Given the description of an element on the screen output the (x, y) to click on. 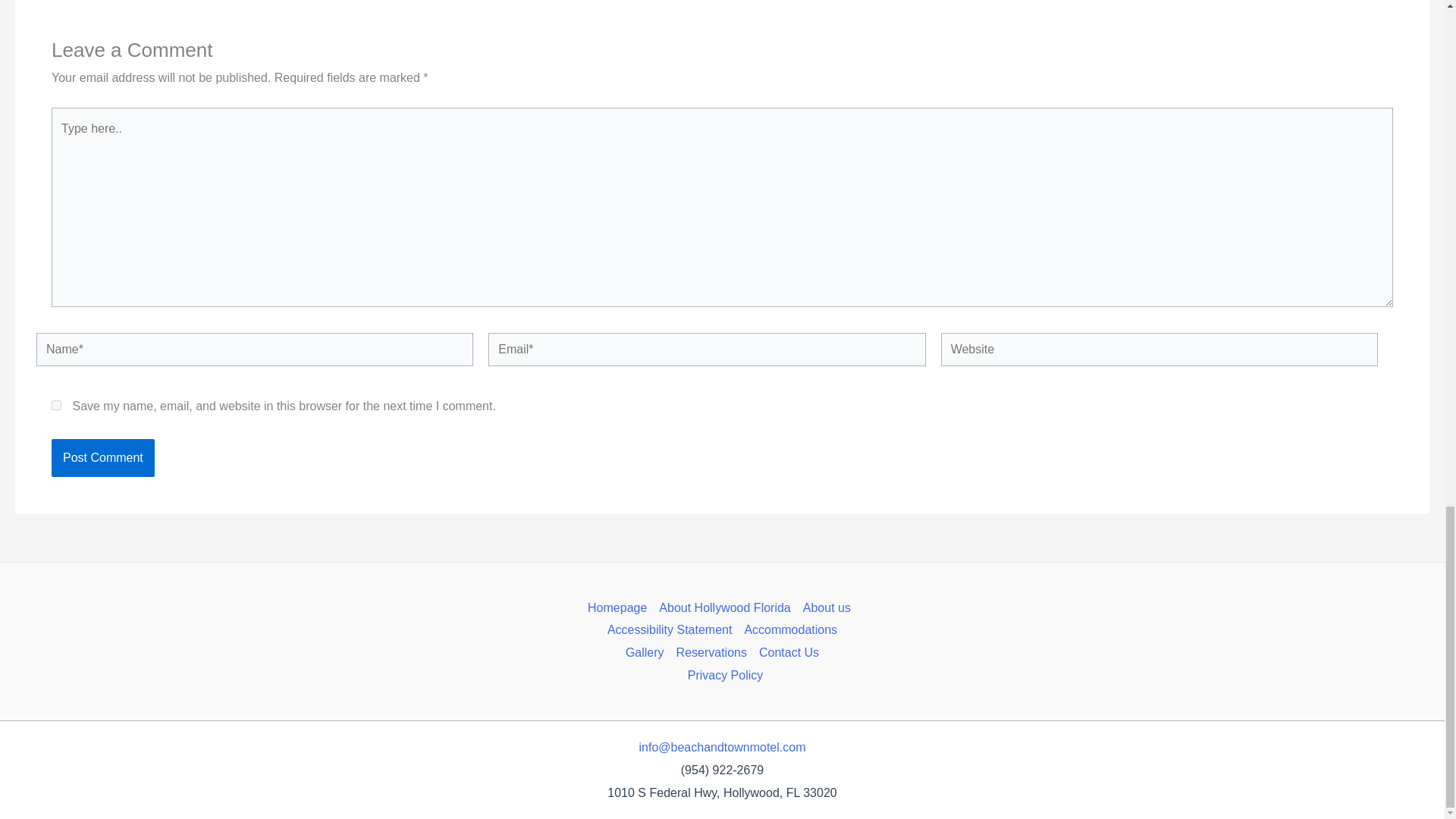
Reservations (710, 652)
Post Comment (102, 457)
yes (55, 405)
Post Comment (102, 457)
Gallery (644, 652)
Accommodations (790, 630)
Homepage (620, 608)
Contact Us (788, 652)
Privacy Policy (721, 675)
Accessibility Statement (669, 630)
About us (826, 608)
About Hollywood Florida (724, 608)
